Given the description of an element on the screen output the (x, y) to click on. 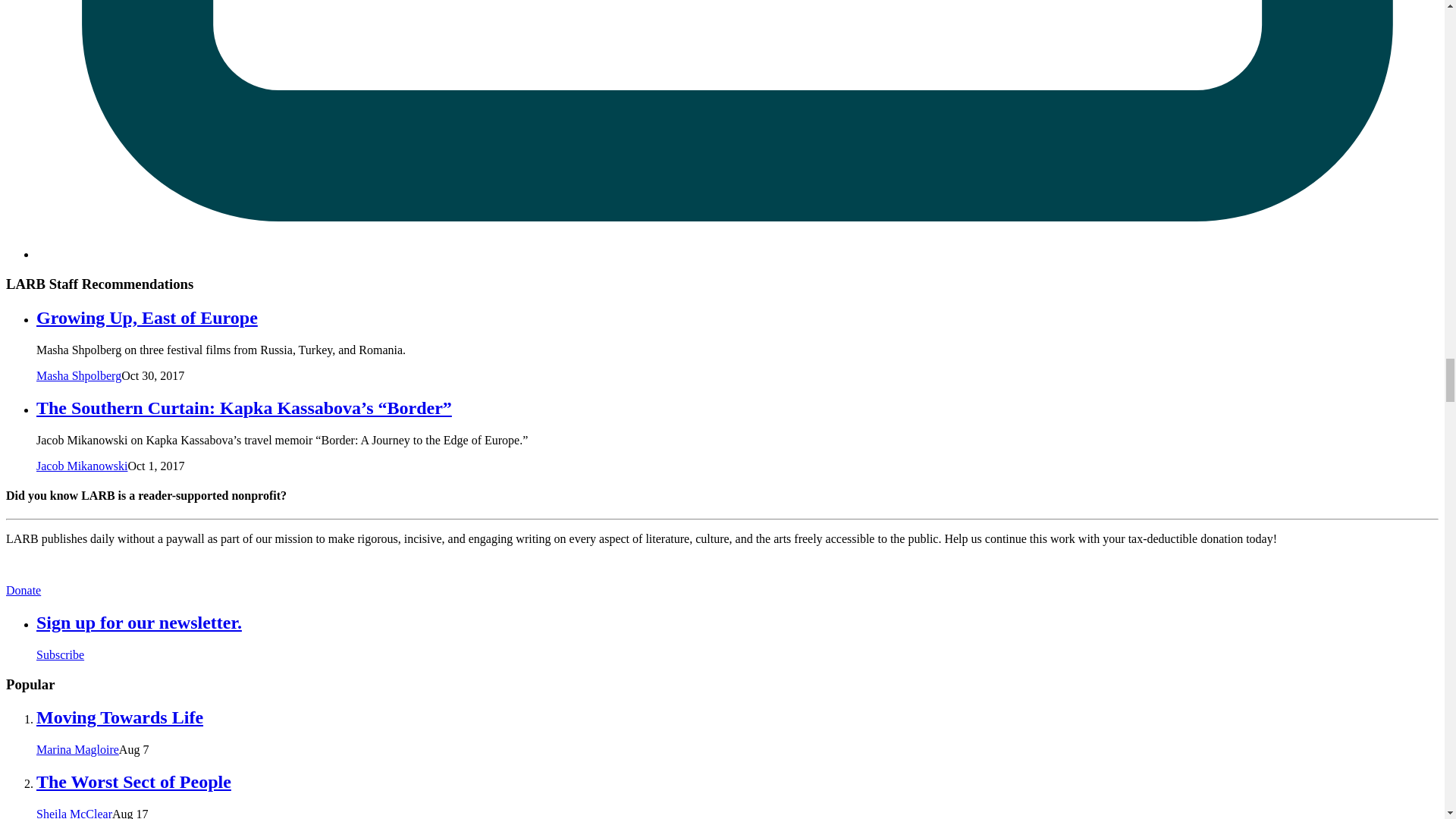
Growing Up, East of Europe (146, 317)
Sign up for our newsletter. (138, 622)
Masha Shpolberg (78, 375)
Jacob Mikanowski (82, 465)
